Given the description of an element on the screen output the (x, y) to click on. 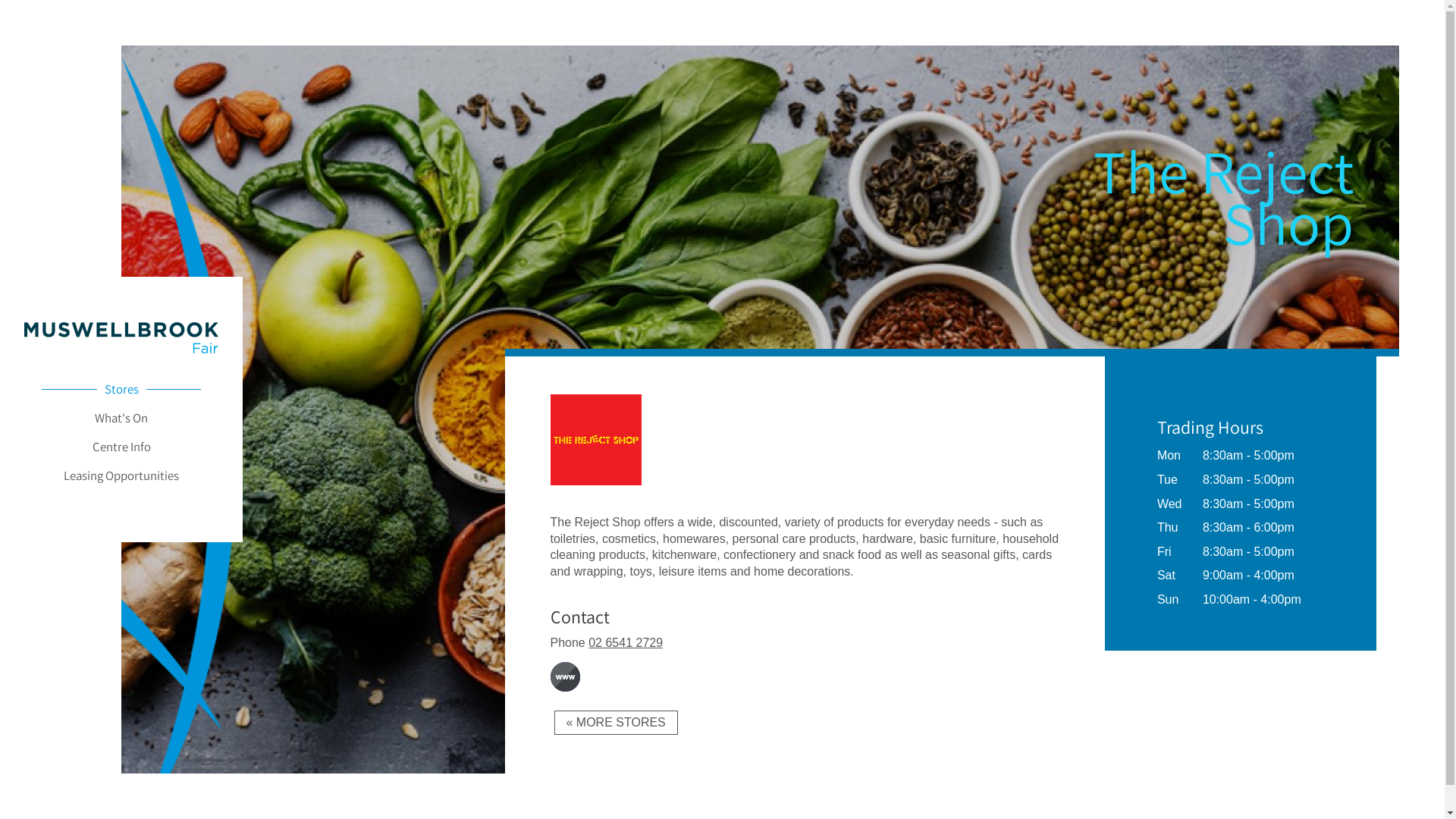
Privacy Policy Element type: text (1168, 790)
02 6541 2729 Element type: text (625, 642)
Stores Element type: text (121, 388)
Leasing Opportunities Element type: text (121, 475)
Visit the The Reject Shop website Element type: hover (565, 676)
Website designed and developed by Clear Pixel, Brisbane Element type: hover (1392, 789)
Visit Reatailers Website Element type: hover (595, 503)
Centre Info Element type: text (121, 446)
What's On Element type: text (121, 417)
